Given the description of an element on the screen output the (x, y) to click on. 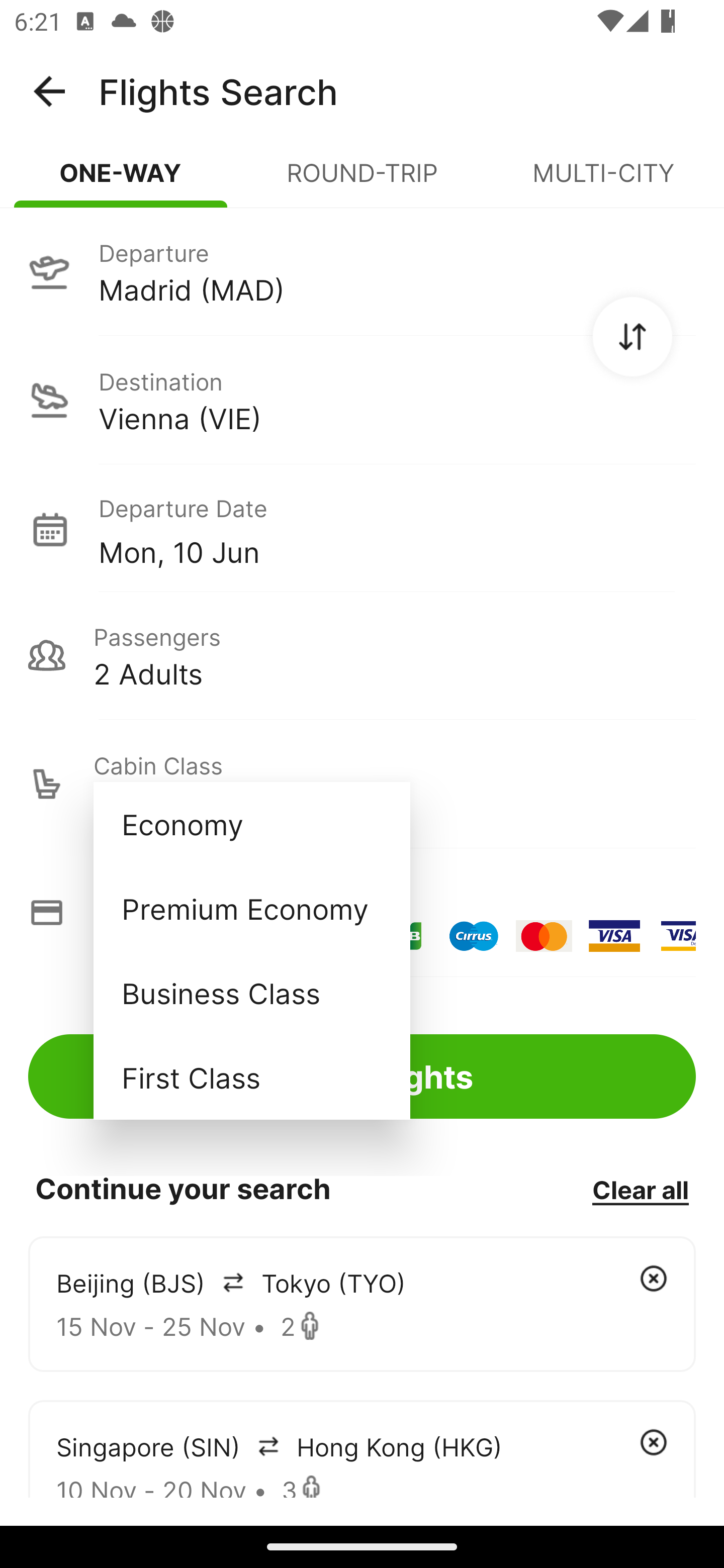
Economy (251, 824)
Premium Economy (251, 908)
Business Class (251, 992)
First Class (251, 1076)
